Given the description of an element on the screen output the (x, y) to click on. 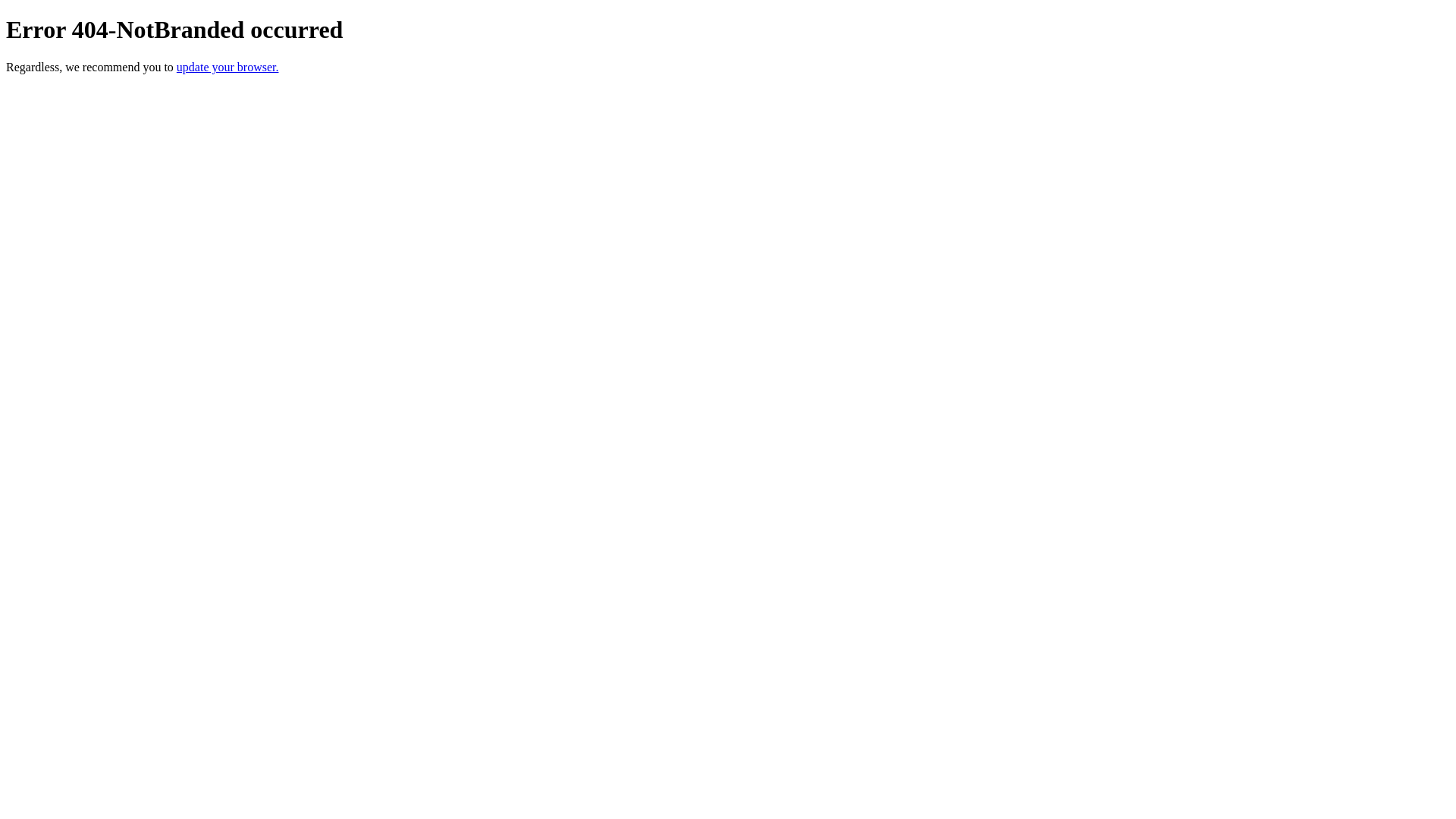
update your browser. Element type: text (227, 66)
